Given the description of an element on the screen output the (x, y) to click on. 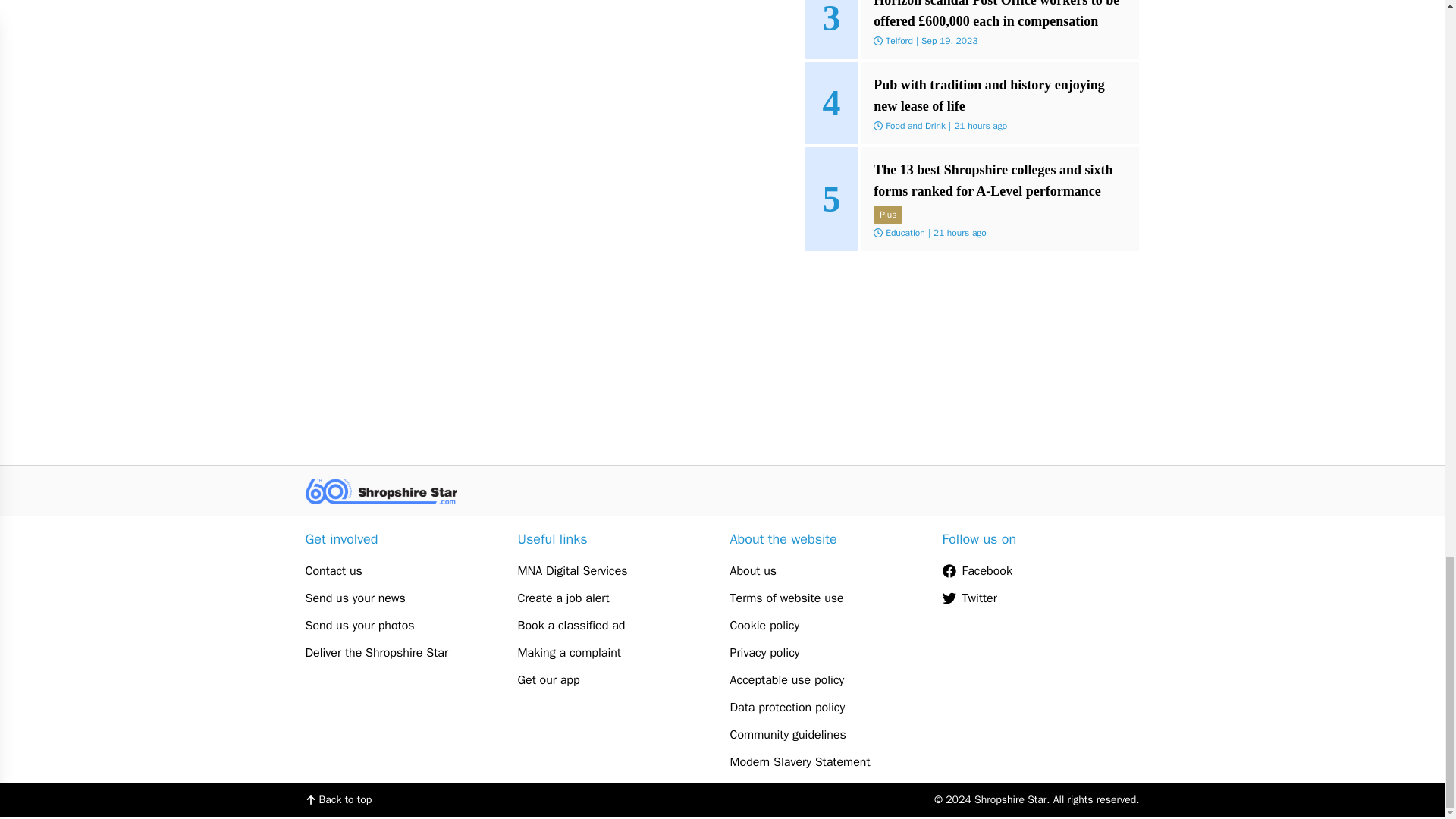
Food and Drink (914, 125)
Education (904, 232)
Telford (898, 40)
